Given the description of an element on the screen output the (x, y) to click on. 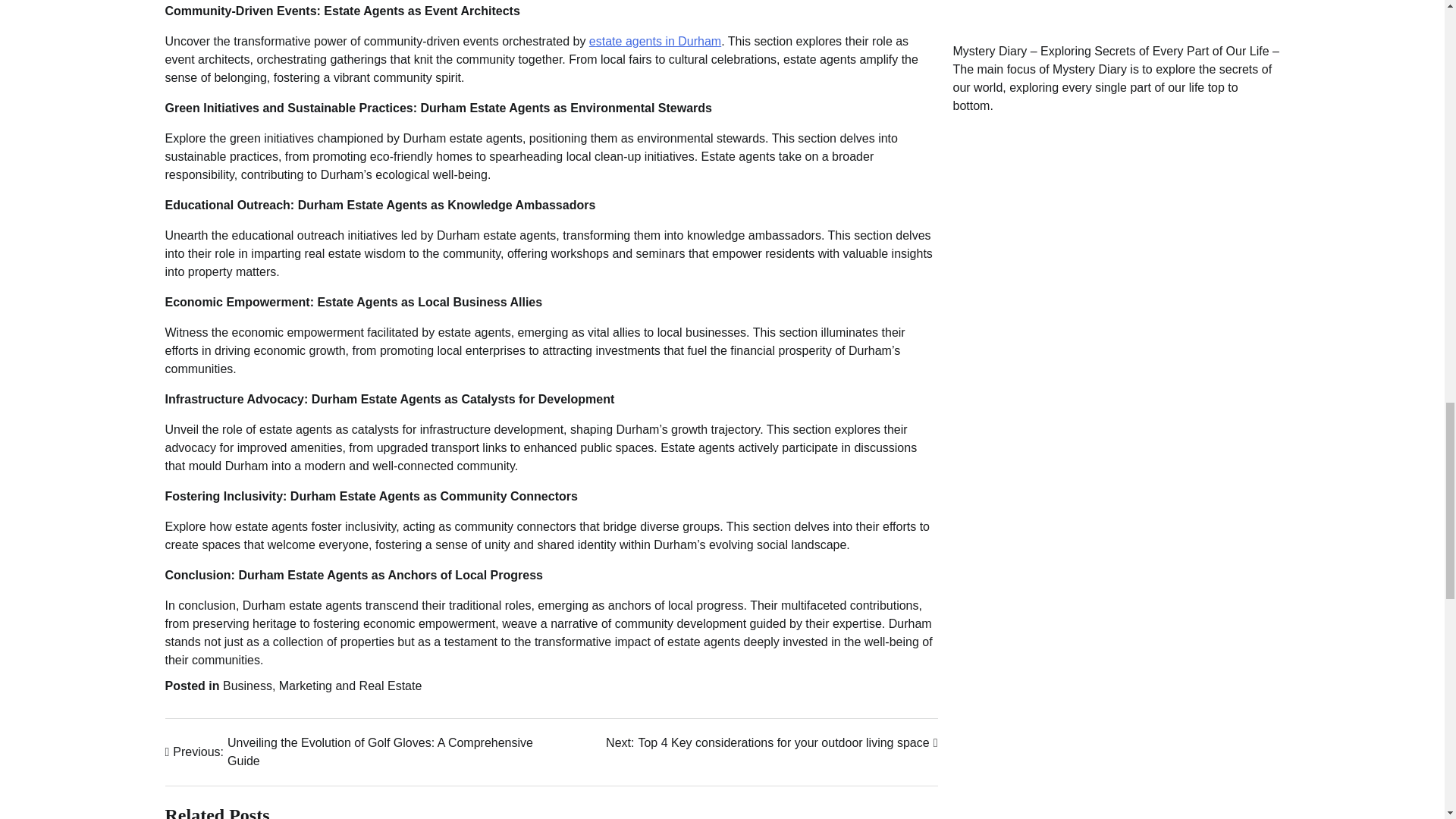
estate agents in Durham (771, 742)
Business, Marketing and Real Estate (654, 41)
